Given the description of an element on the screen output the (x, y) to click on. 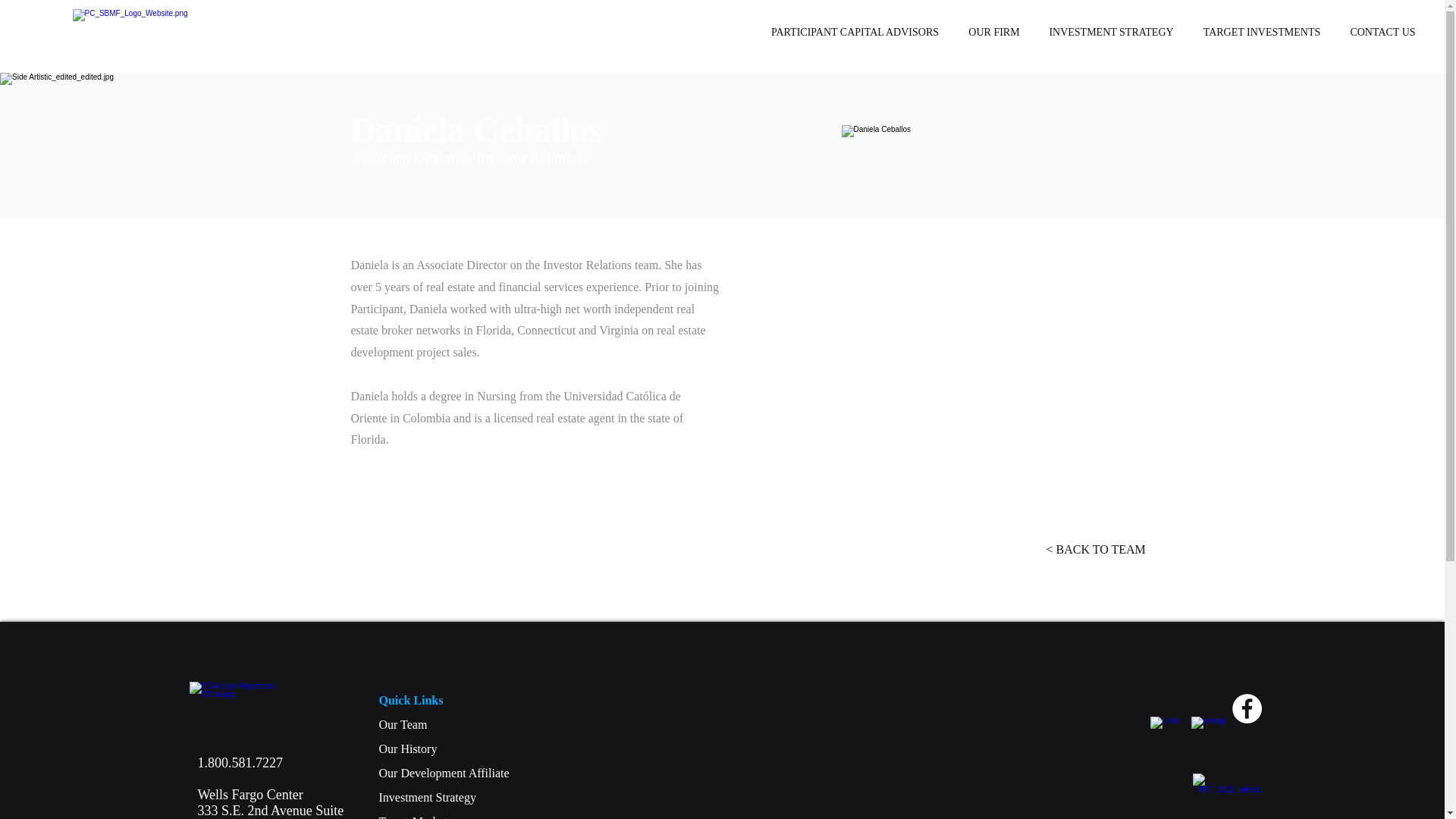
Our History (408, 748)
CONTACT US (1382, 32)
PARTICIPANT CAPITAL ADVISORS (854, 32)
Our Development Affiliate (443, 772)
Target Markets (415, 816)
Our Team (249, 778)
INVESTMENT STRATEGY (403, 724)
Daniela Ceballos (1110, 32)
Investment Strategy (989, 273)
TARGET INVESTMENTS (427, 797)
